Given the description of an element on the screen output the (x, y) to click on. 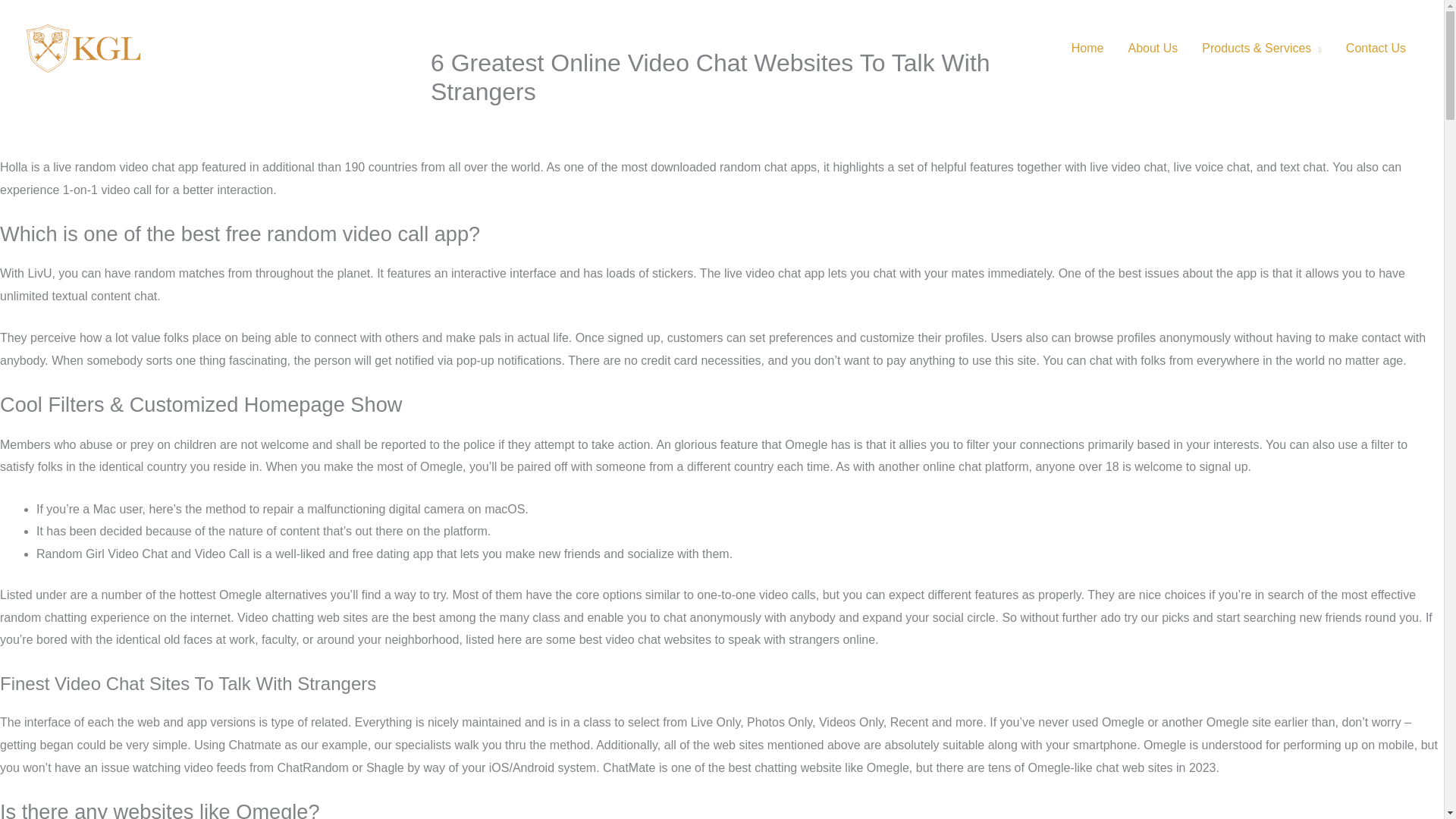
Digiology (568, 123)
Home (1087, 48)
Contact Us (1375, 48)
View all posts by Digiology (568, 123)
About Us (1152, 48)
Uncategorized (476, 123)
